Given the description of an element on the screen output the (x, y) to click on. 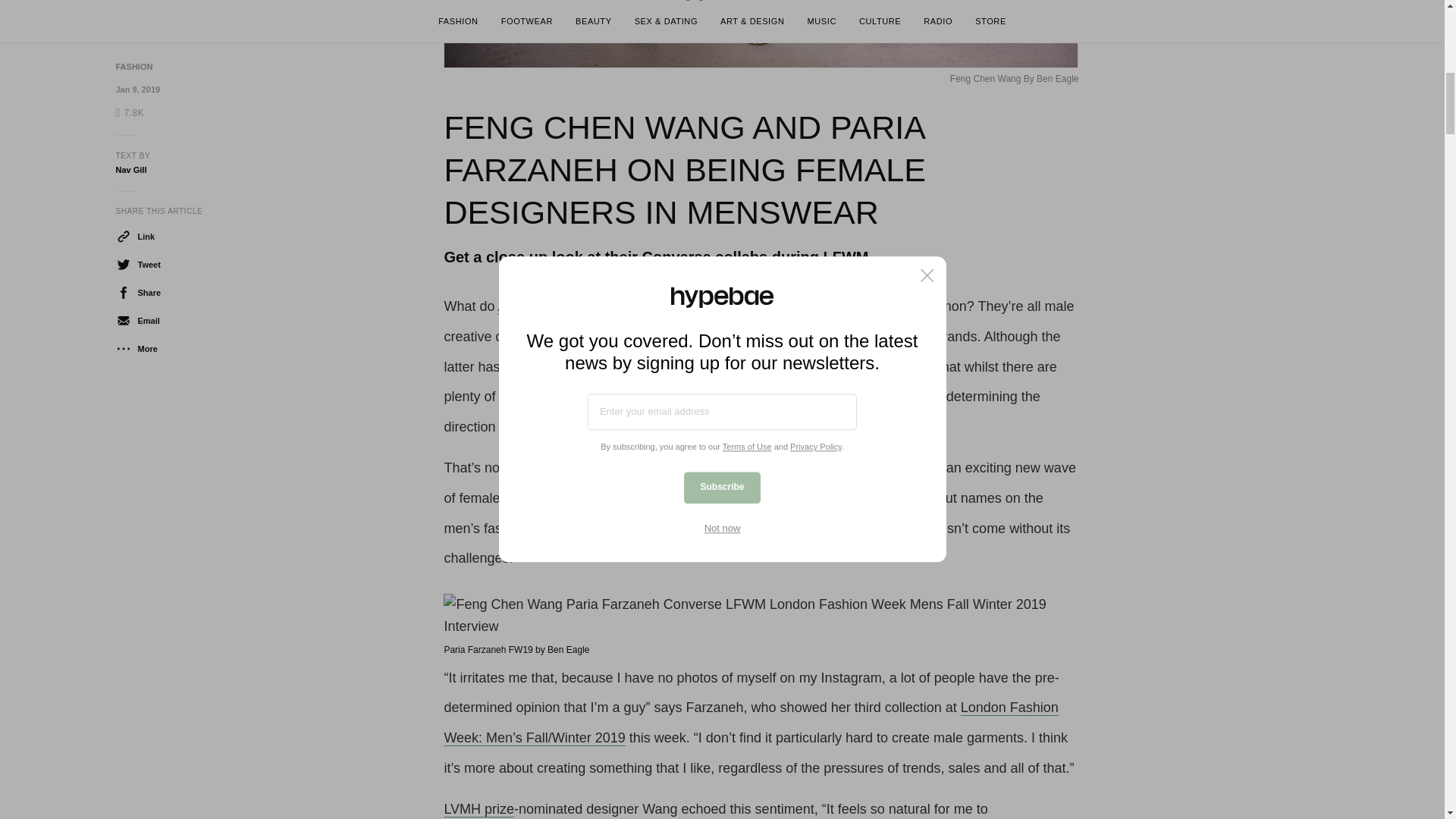
Hedi Slimane (822, 306)
Feng Chen Wang (700, 467)
Paria Farzaneh (829, 467)
LVMH prize (478, 809)
3rd party ad content (1213, 49)
Celine (809, 367)
Nicholas Ghesquiere (689, 306)
Alessandro Michele (556, 306)
